Given the description of an element on the screen output the (x, y) to click on. 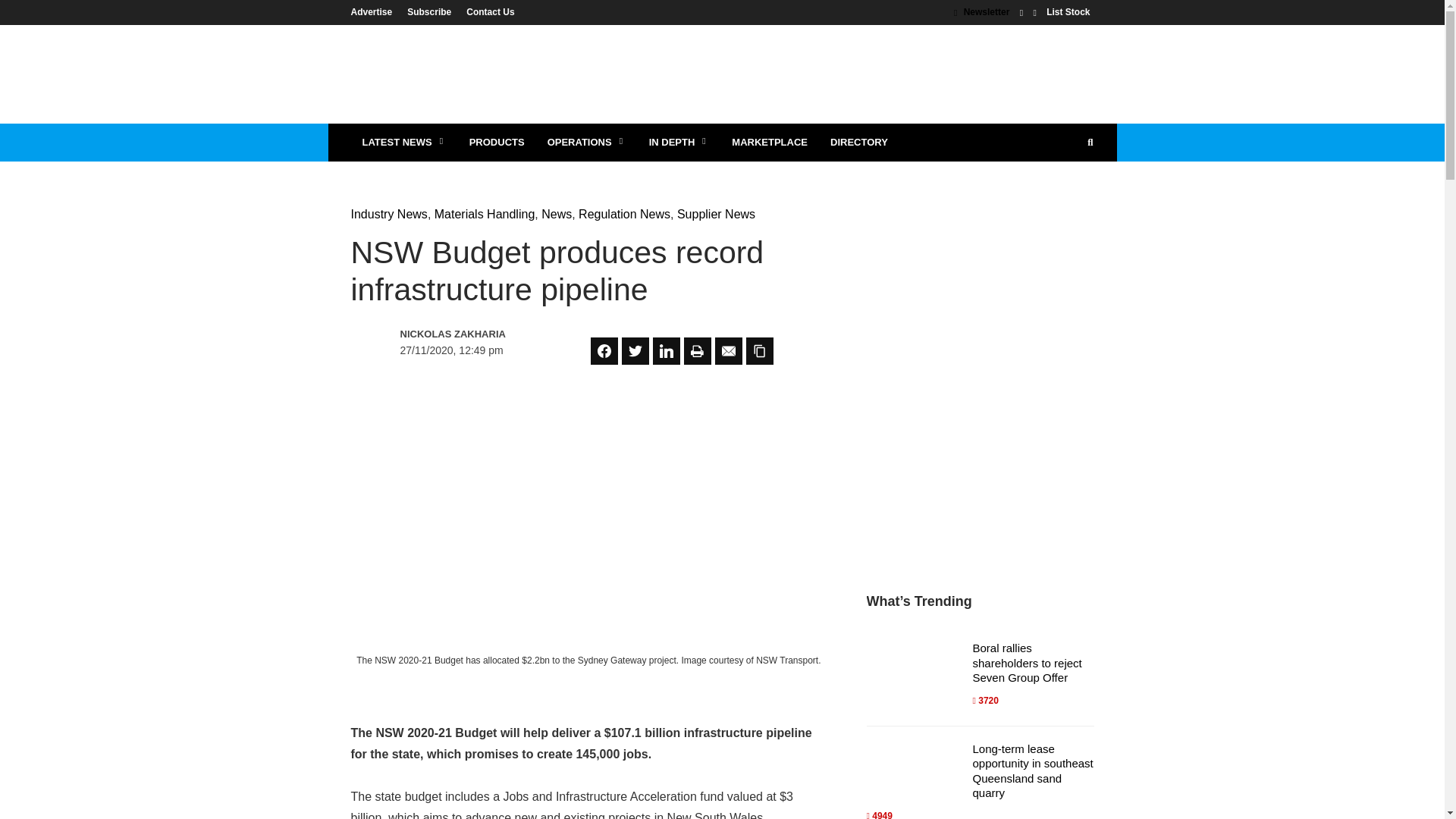
Advertise (374, 11)
IN DEPTH (678, 142)
View all posts by Nickolas Zakharia (465, 333)
DIRECTORY (858, 142)
PRODUCTS (496, 142)
List Stock (1067, 11)
MARKETPLACE (769, 142)
OPERATIONS (586, 142)
LATEST NEWS (403, 142)
News (556, 214)
